Given the description of an element on the screen output the (x, y) to click on. 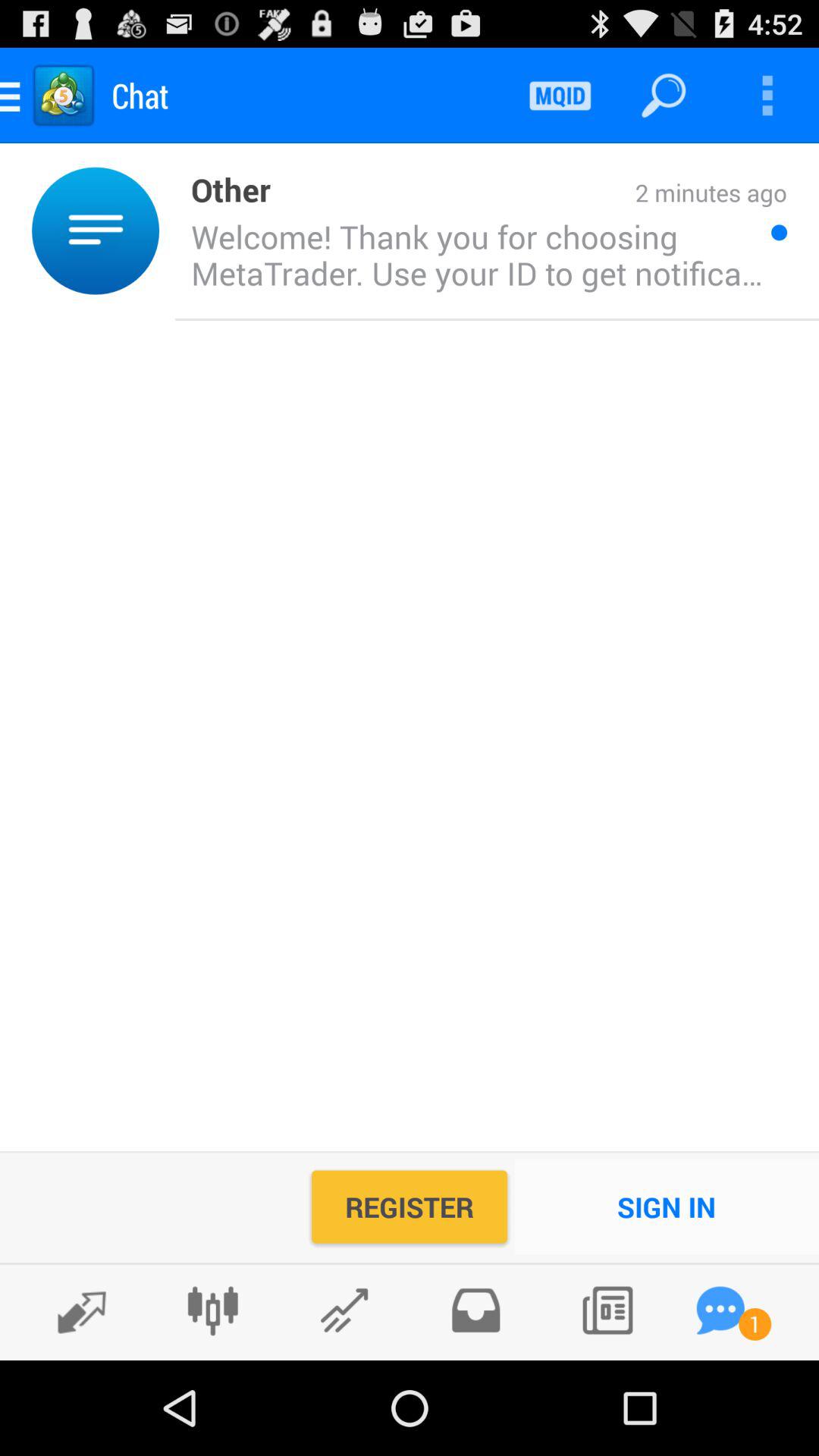
press the icon below welcome thank you (666, 1206)
